Given the description of an element on the screen output the (x, y) to click on. 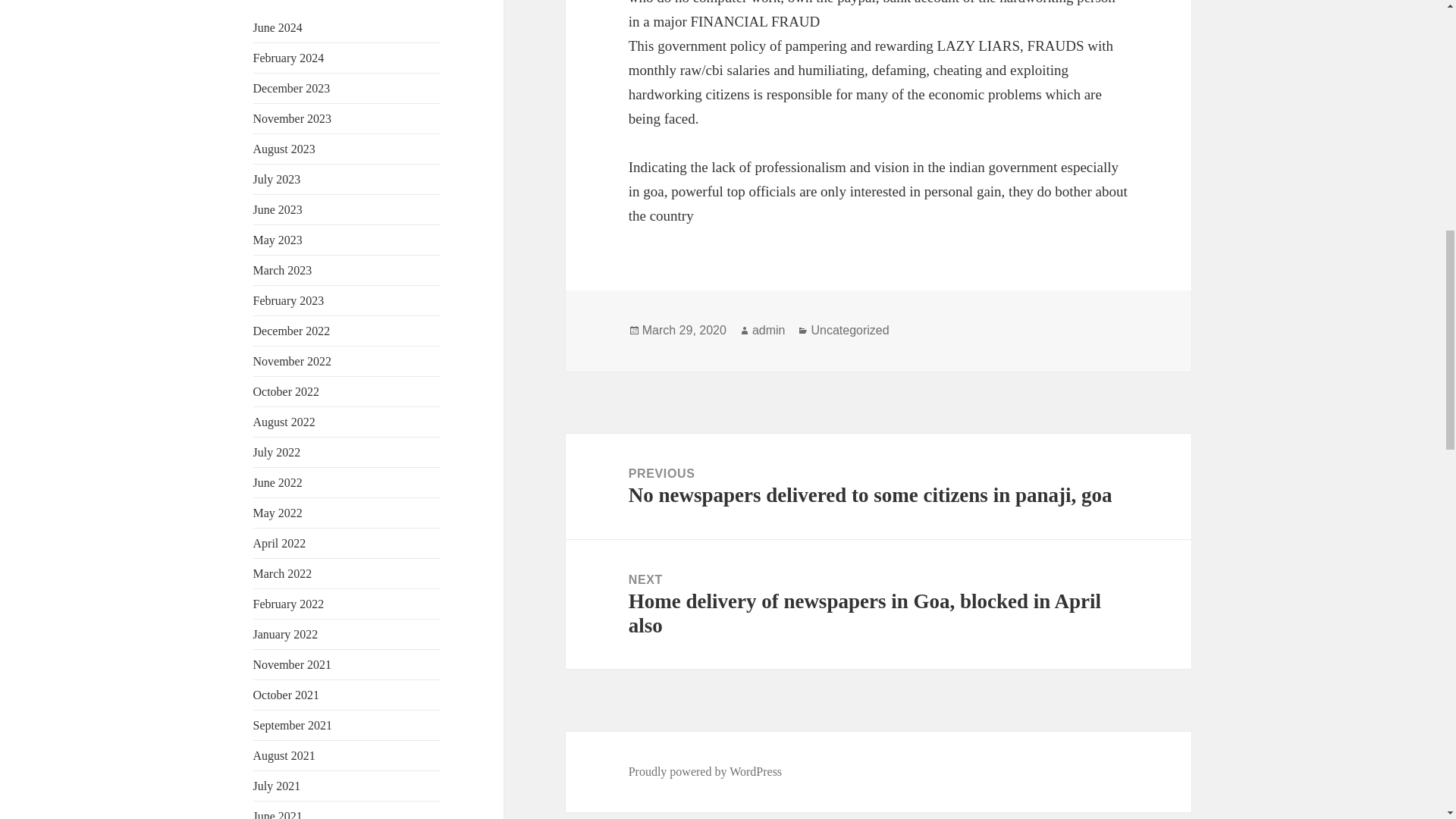
August 2021 (284, 755)
March 2022 (283, 573)
June 2021 (277, 814)
February 2023 (288, 300)
February 2024 (288, 57)
November 2021 (292, 664)
December 2022 (291, 330)
November 2022 (292, 360)
July 2022 (277, 451)
July 2023 (277, 178)
